Given the description of an element on the screen output the (x, y) to click on. 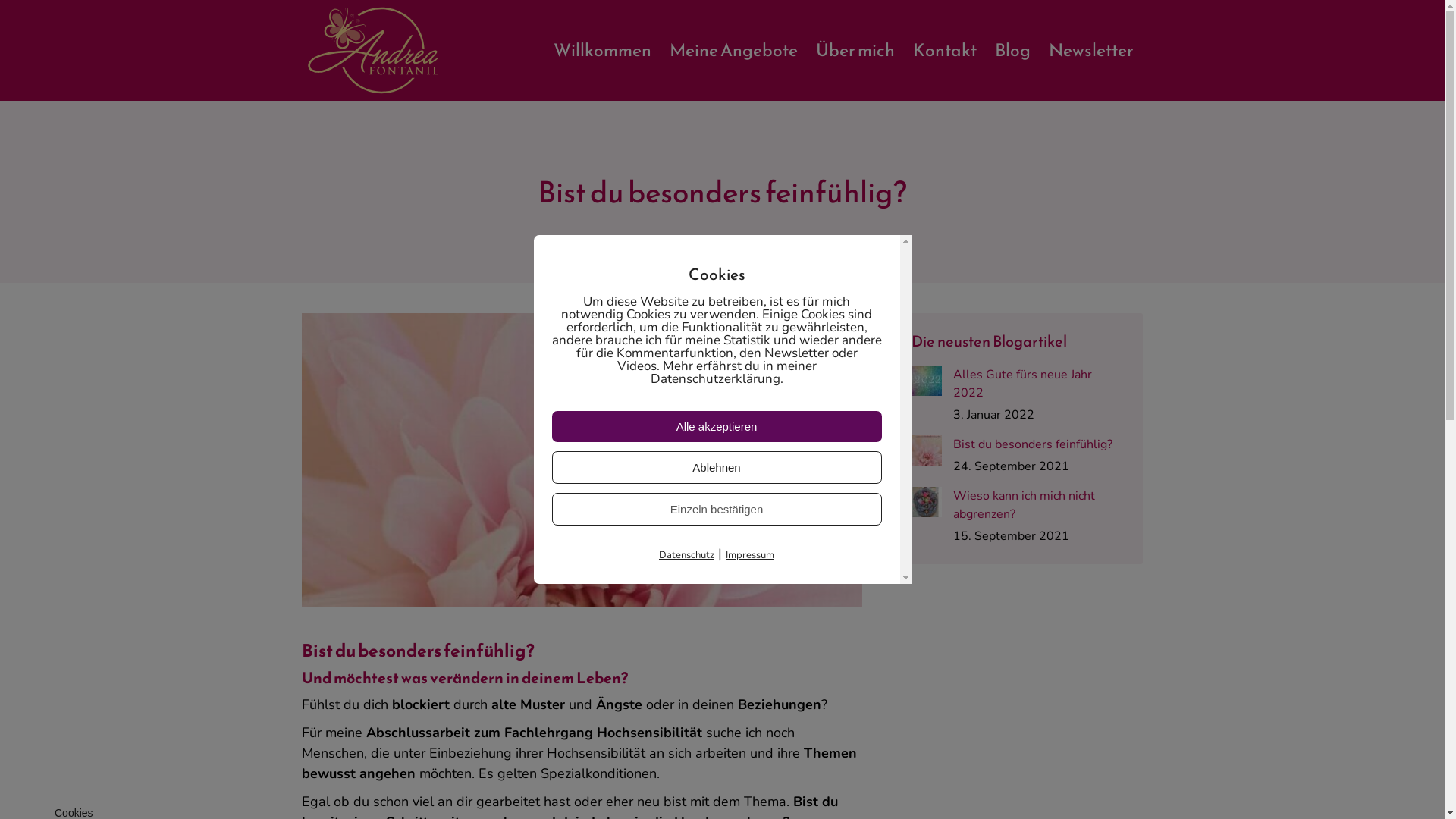
Blog Element type: text (1012, 50)
Ablehnen Element type: text (716, 467)
lehrgang_dahlie_800x950 Element type: hover (581, 459)
Wieso kann ich mich nicht abgrenzen? Element type: text (1038, 504)
Kontakt Element type: text (944, 50)
Meine Angebote Element type: text (733, 50)
Impressum Element type: text (749, 554)
Newsletter Element type: text (1090, 50)
Datenschutz Element type: text (686, 554)
Alle akzeptieren Element type: text (716, 426)
Kommentar abschicken Element type: text (106, 18)
Willkommen Element type: text (602, 50)
